Given the description of an element on the screen output the (x, y) to click on. 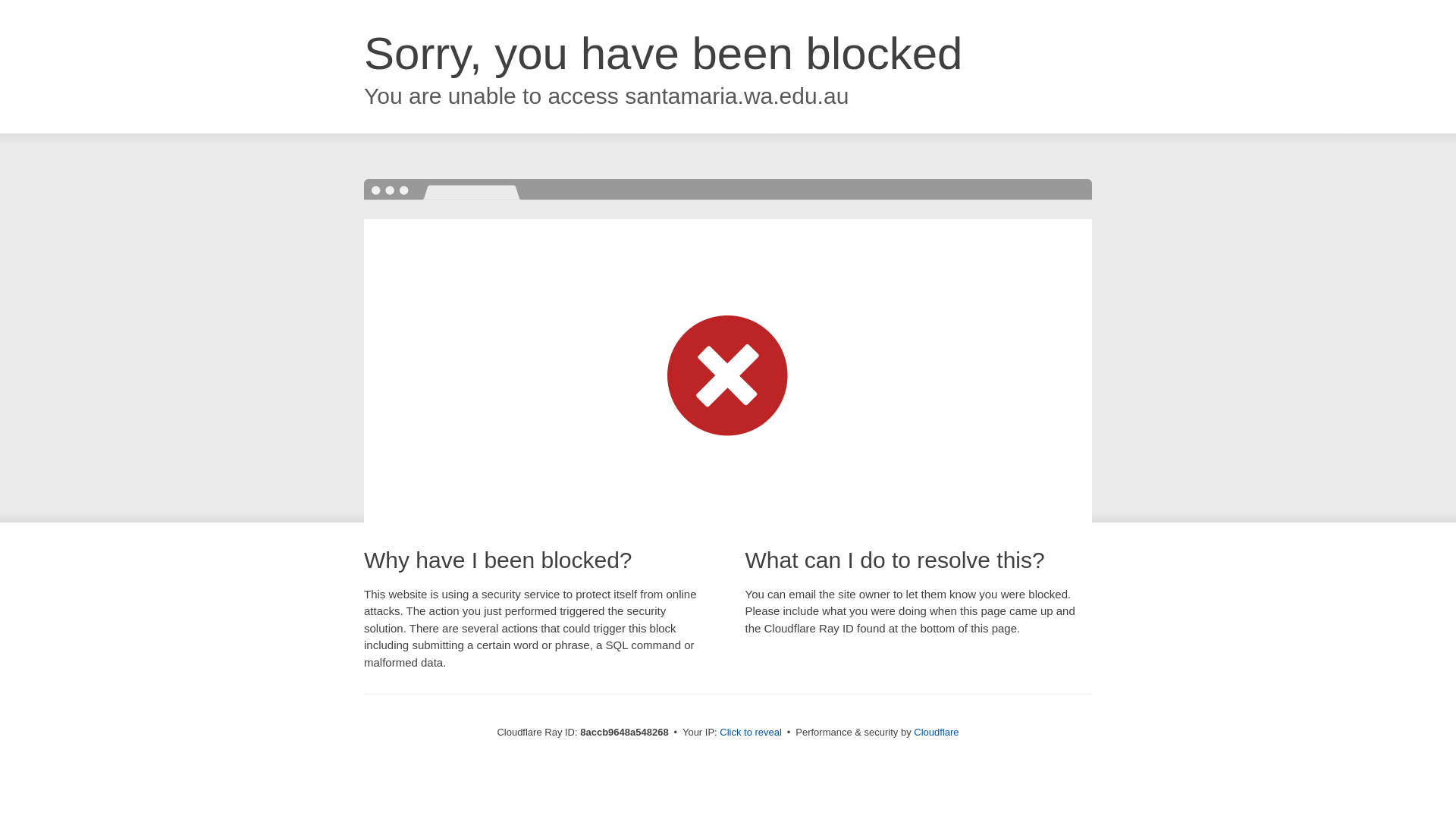
Click to reveal (750, 732)
Cloudflare (936, 731)
